Given the description of an element on the screen output the (x, y) to click on. 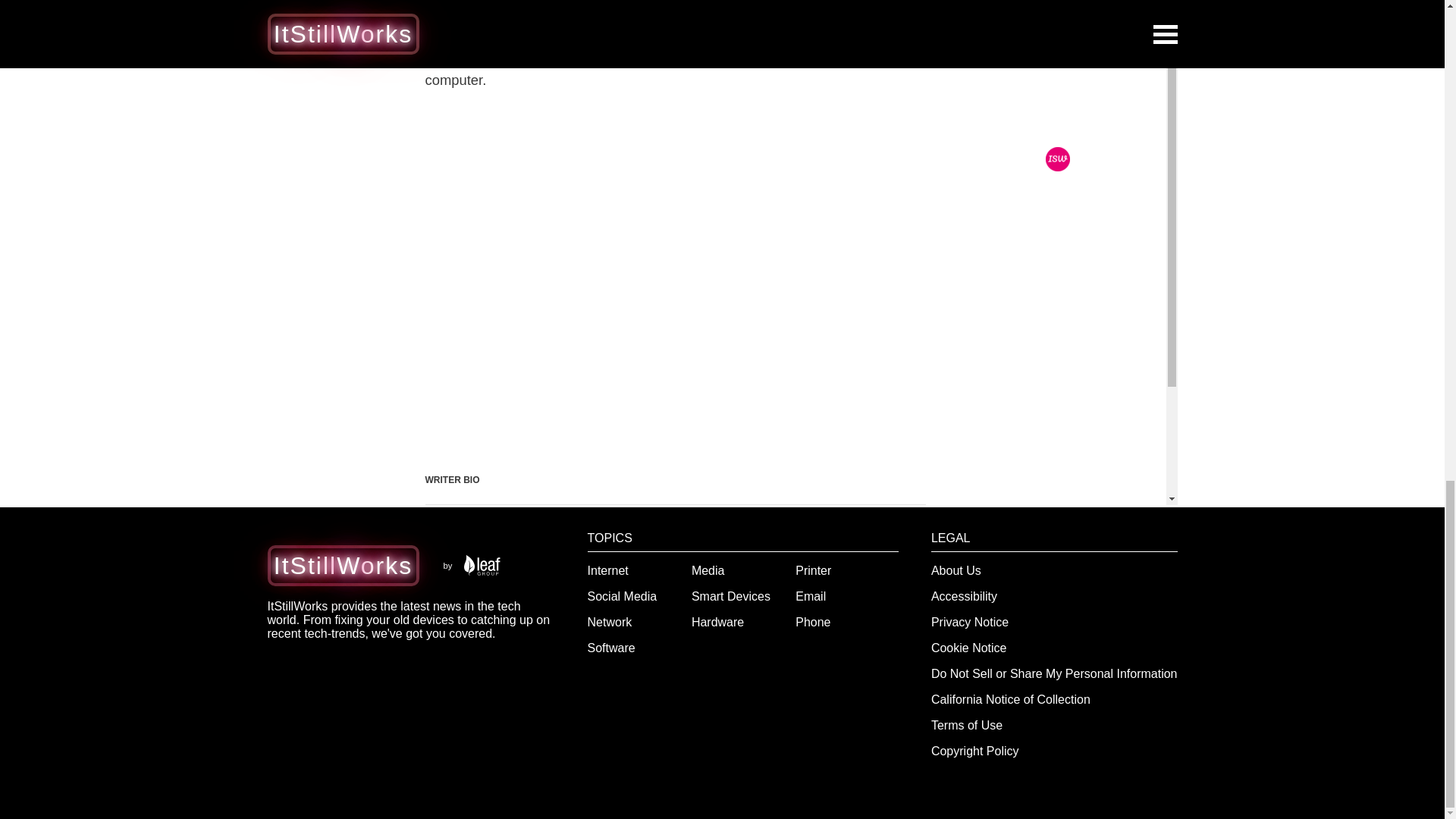
Social Media (623, 595)
Phone (811, 621)
About Us (956, 570)
Software (611, 647)
Email (809, 595)
Printer (812, 570)
Smart Devices (730, 595)
Media (708, 570)
Do Not Sell or Share My Personal Information (1054, 673)
Hardware (717, 621)
